Given the description of an element on the screen output the (x, y) to click on. 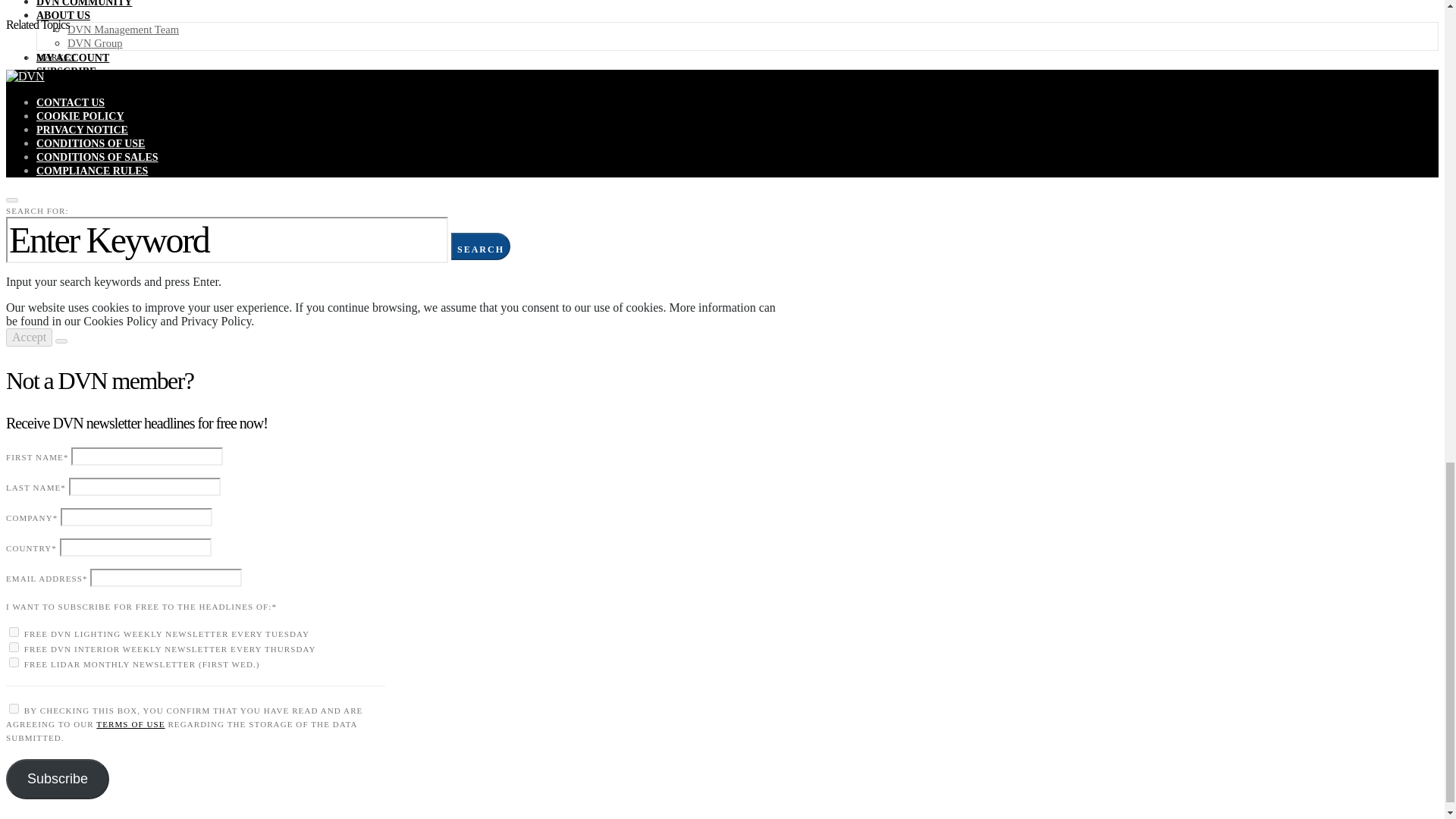
13 (13, 632)
on (13, 708)
Subscribe (57, 779)
16 (13, 646)
47 (13, 662)
